Given the description of an element on the screen output the (x, y) to click on. 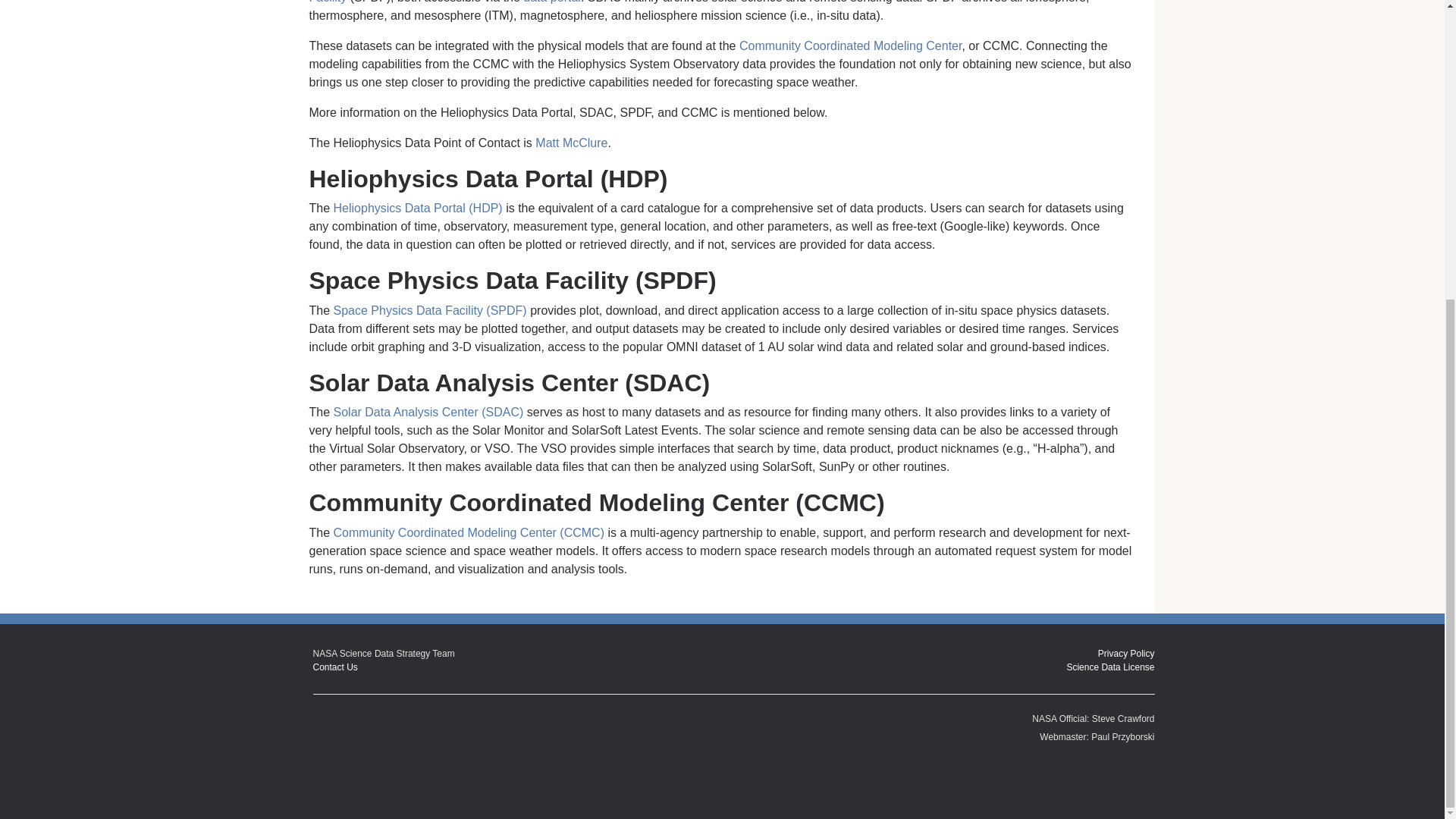
Matt McClure (571, 142)
Privacy Policy (1125, 653)
Contact Us (334, 666)
data portal (551, 2)
Science Data License (1109, 666)
Community Coordinated Modeling Center (849, 45)
